Given the description of an element on the screen output the (x, y) to click on. 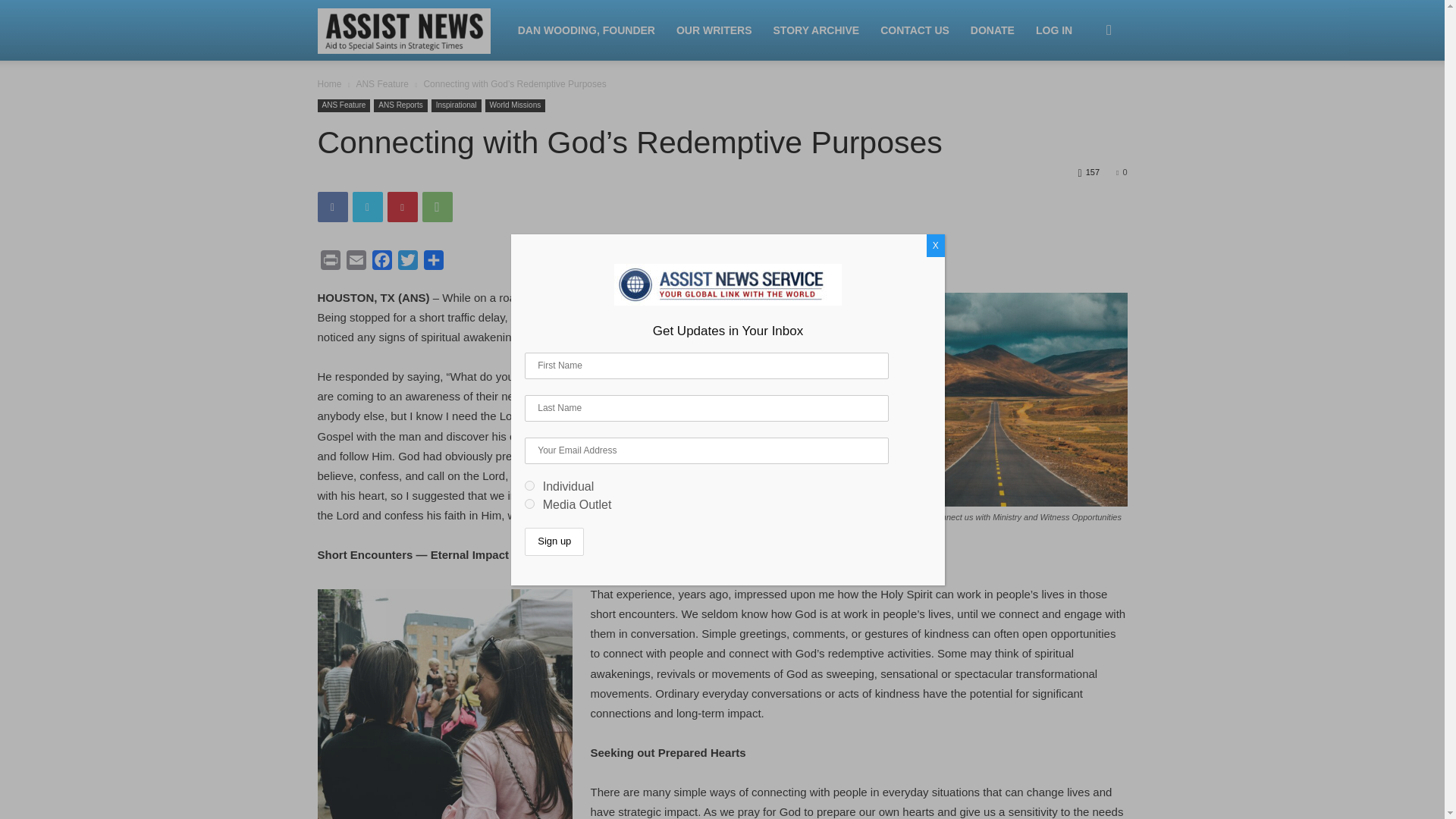
View all posts in ANS Feature (381, 83)
Print (329, 263)
Sign up (553, 541)
LOG IN (1054, 30)
Inspirational (455, 105)
Twitter (366, 206)
DAN WOODING, FOUNDER (585, 30)
0 (1121, 171)
ANS Feature (343, 105)
Facebook (332, 206)
ANS Feature (381, 83)
38bd3e7dde (529, 503)
WhatsApp (436, 206)
Home (328, 83)
ASSIST NEWS (411, 30)
